Given the description of an element on the screen output the (x, y) to click on. 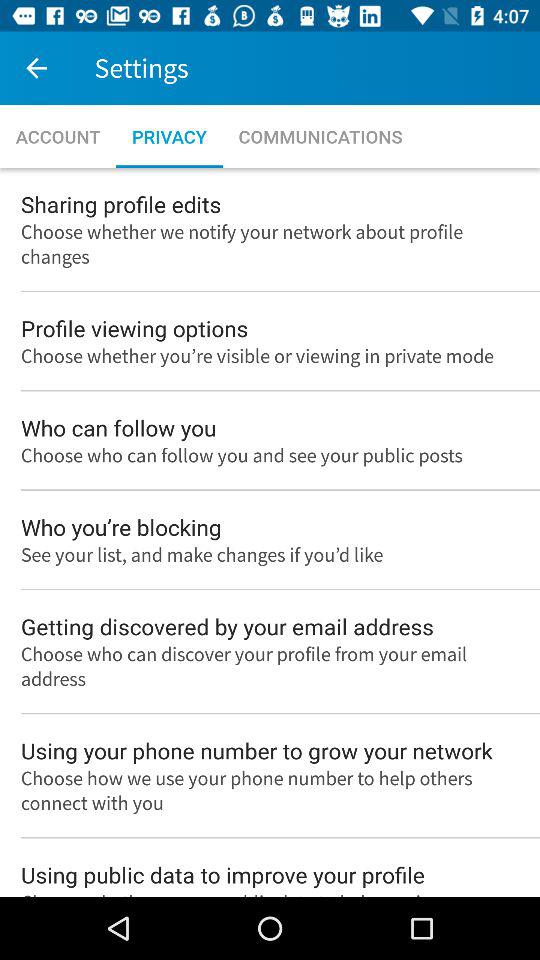
launch icon above the account (36, 68)
